Given the description of an element on the screen output the (x, y) to click on. 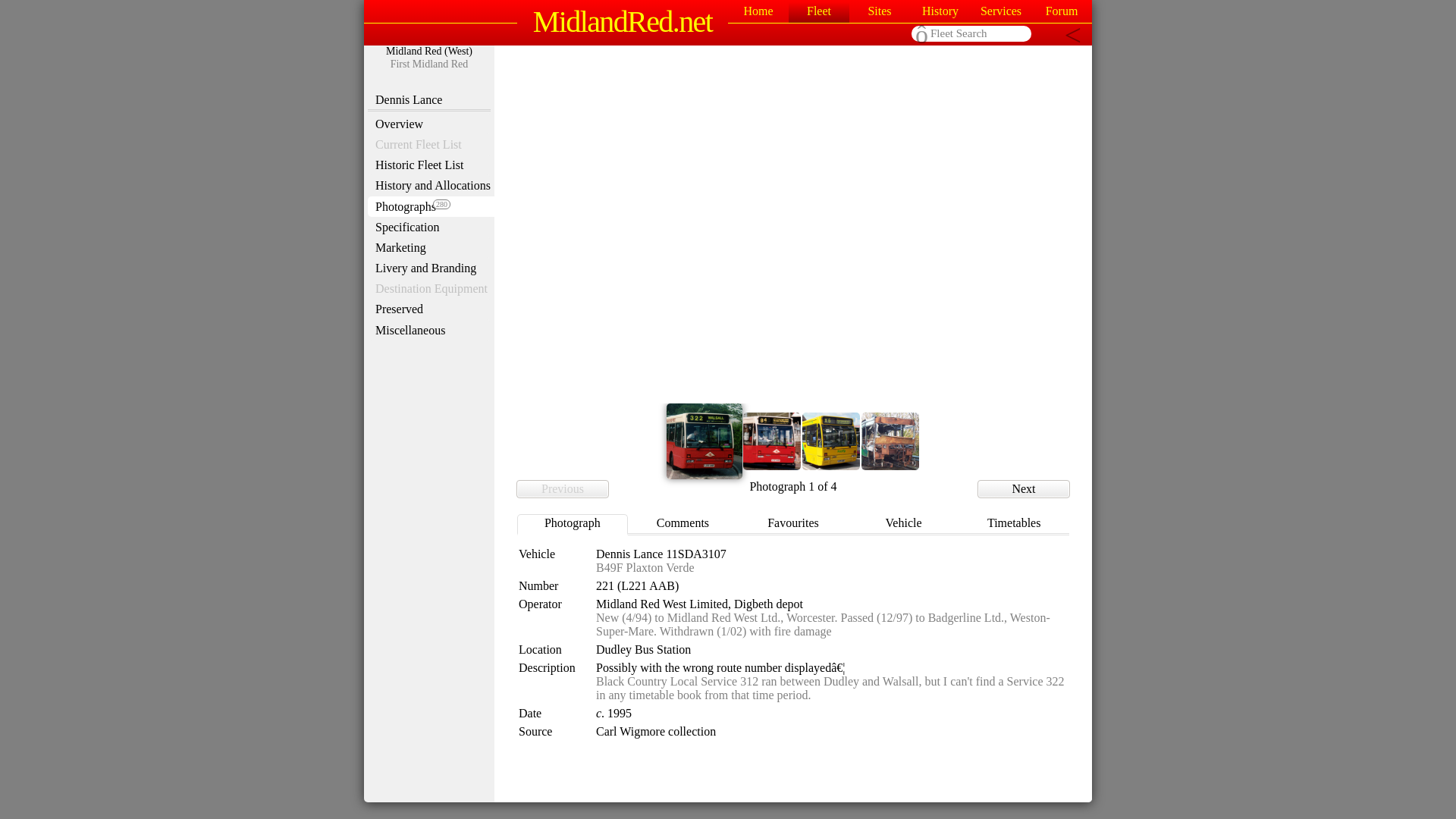
Comments (682, 524)
Livery and Branding (429, 267)
Fleet Search (970, 33)
Photograph (571, 524)
Favourites (793, 524)
Overview (429, 123)
Sites (879, 11)
MidlandRed.net: Unofficial website for Midland Red buses. (621, 21)
Home (758, 11)
History (940, 11)
Preserved (429, 308)
Historic Fleet List (429, 164)
Forum (1061, 11)
Fleet (818, 11)
Services (1000, 11)
